Given the description of an element on the screen output the (x, y) to click on. 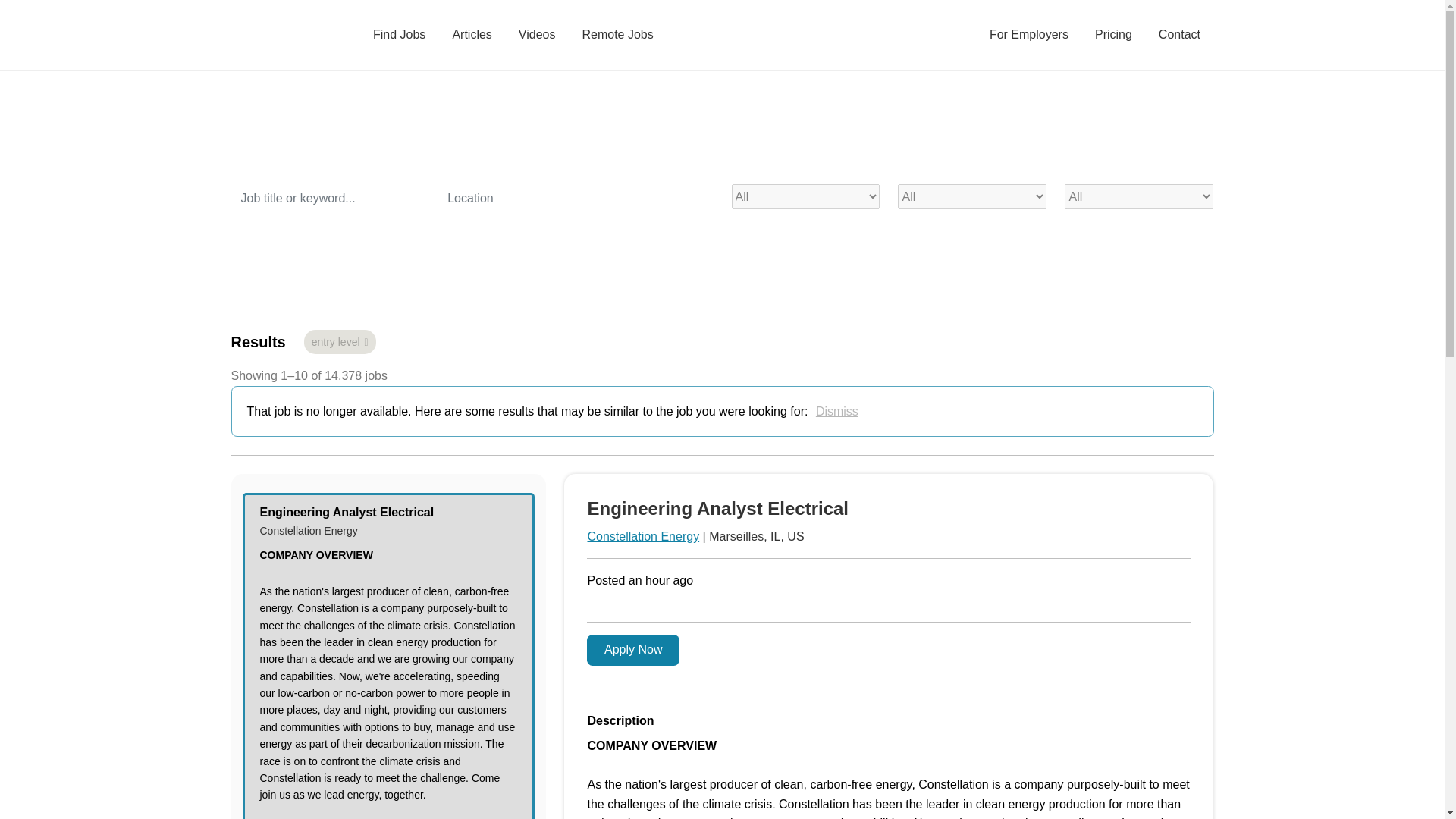
Find Jobs (398, 34)
Videos (537, 34)
Contact (1178, 34)
Apply Now (632, 649)
Pricing (1112, 34)
Search (267, 240)
Remote Jobs (617, 34)
College Recruiter (272, 35)
Articles (472, 34)
For Employers (1028, 34)
